Given the description of an element on the screen output the (x, y) to click on. 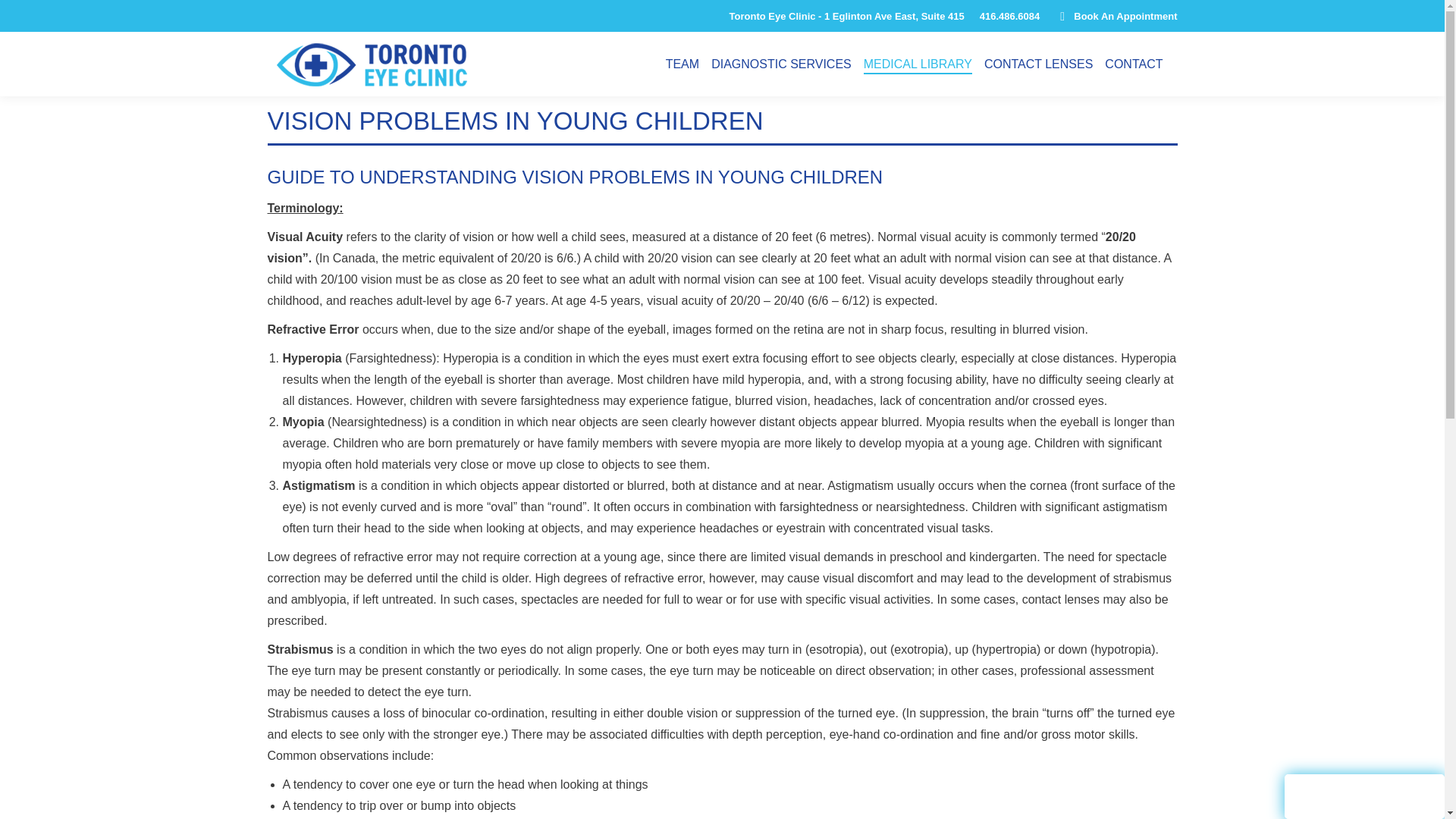
DIAGNOSTIC SERVICES (781, 63)
Toronto Eye Clinic - 1 Eglinton Ave East, Suite 415 (846, 16)
416.486.6084 (1010, 16)
Book An Appointment (1115, 16)
MEDICAL LIBRARY (917, 63)
